Given the description of an element on the screen output the (x, y) to click on. 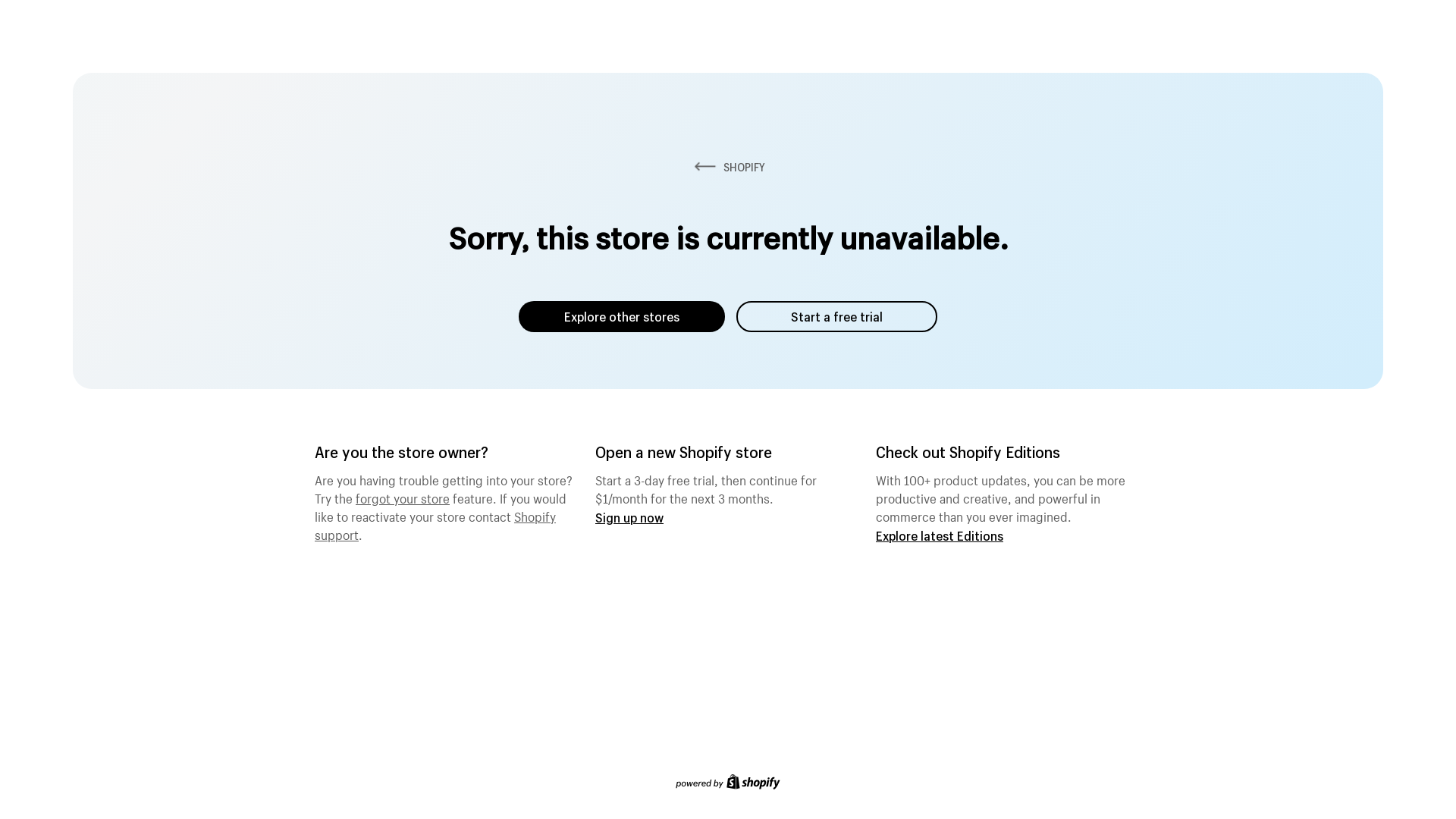
Shopify support Element type: text (434, 523)
SHOPIFY Element type: text (727, 167)
Explore other stores Element type: text (621, 316)
Start a free trial Element type: text (836, 316)
Sign up now Element type: text (629, 517)
forgot your store Element type: text (402, 496)
Explore latest Editions Element type: text (939, 535)
